Given the description of an element on the screen output the (x, y) to click on. 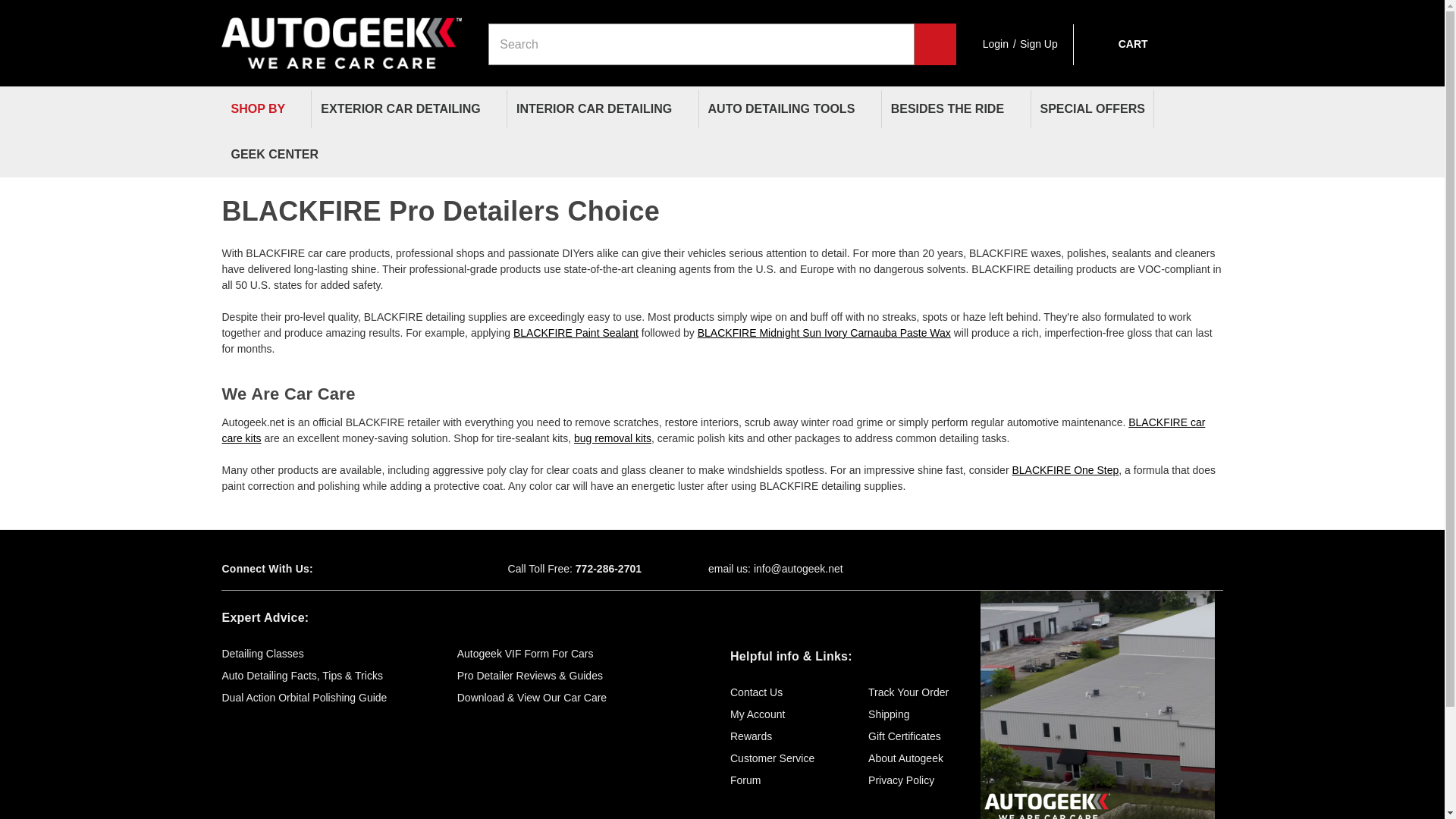
Youtube (405, 569)
Sign Up (1039, 44)
Facebook (351, 569)
Autogeek.net (341, 35)
Login (995, 44)
Instagram (433, 569)
Twitter (379, 569)
SHOP BY (266, 108)
CART (1117, 44)
